Given the description of an element on the screen output the (x, y) to click on. 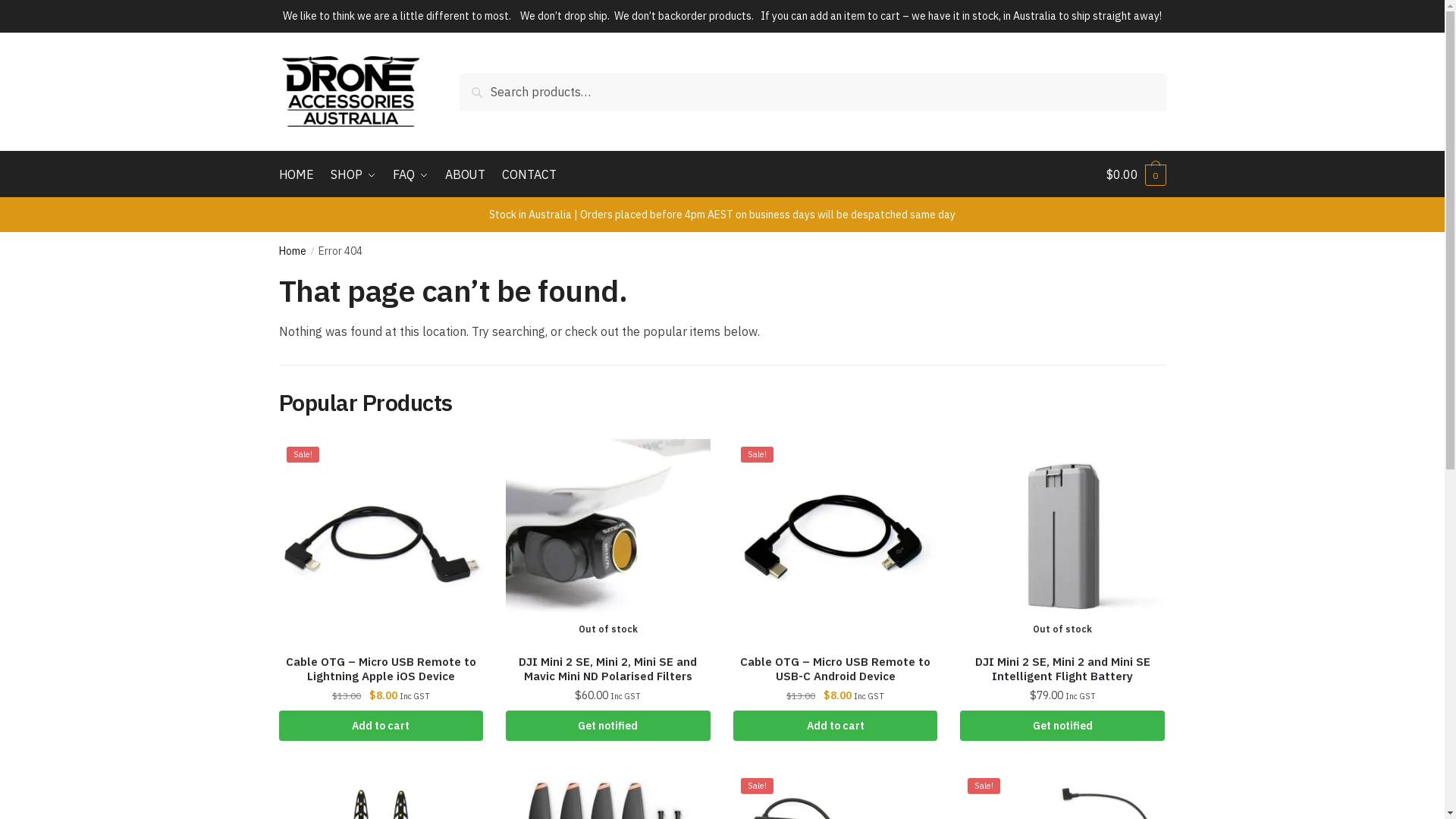
Add to cart Element type: text (835, 725)
CONTACT Element type: text (529, 174)
HOME Element type: text (299, 174)
Out of stock Element type: text (1062, 541)
ABOUT Element type: text (465, 174)
Add to cart Element type: text (381, 725)
SHOP Element type: text (352, 174)
Search Element type: text (482, 83)
FAQ Element type: text (409, 174)
Sale! Element type: text (381, 541)
Home Element type: text (292, 250)
Get notified Element type: text (1062, 725)
$0.00 0 Element type: text (1135, 174)
Sale! Element type: text (835, 541)
DJI Mini 2 SE, Mini 2 and Mini SE Intelligent Flight Battery Element type: text (1062, 669)
Out of stock Element type: text (607, 541)
Get notified Element type: text (607, 725)
